Given the description of an element on the screen output the (x, y) to click on. 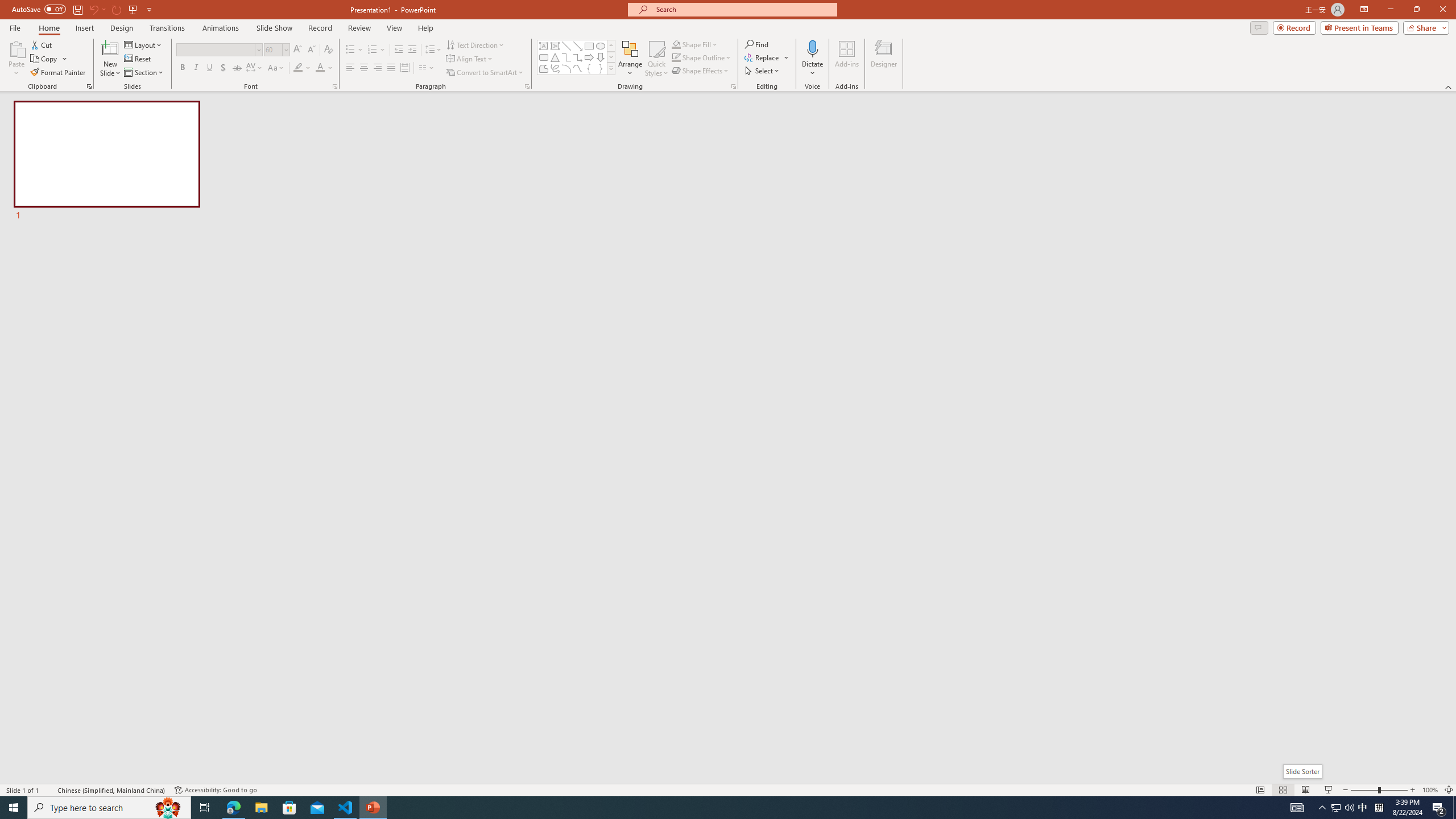
Justify (390, 67)
Decrease Font Size (310, 49)
Decrease Indent (398, 49)
Right Brace (600, 68)
New Slide (110, 58)
Text Box (543, 45)
Normal (1260, 790)
More Options (812, 68)
Designer (883, 58)
Curve (577, 68)
Freeform: Shape (543, 68)
Animations (220, 28)
Shape Outline (701, 56)
